Given the description of an element on the screen output the (x, y) to click on. 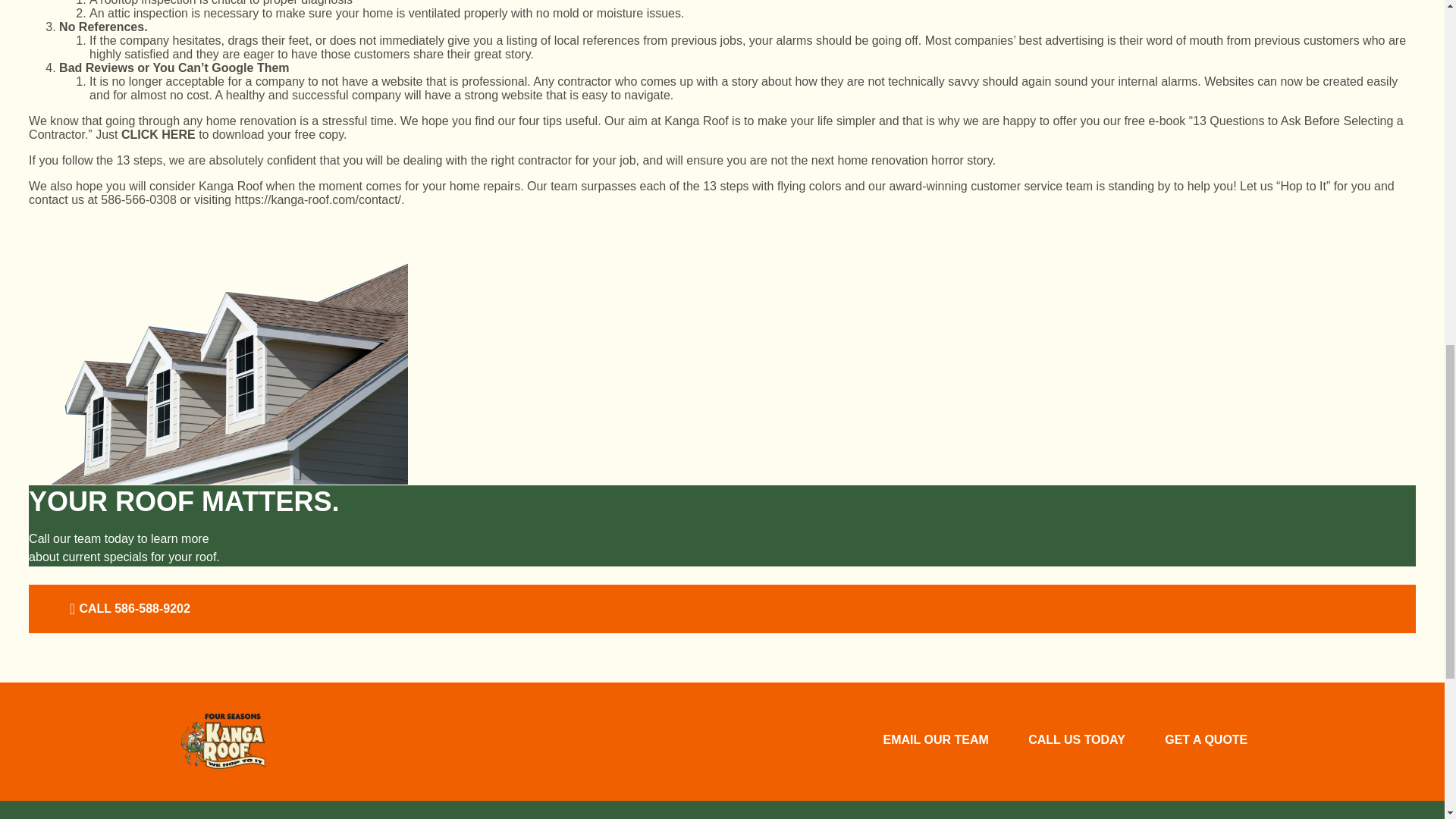
CALL US TODAY (1076, 741)
CALL 586-588-9202 (127, 608)
GET A QUOTE (1205, 741)
EMAIL OUR TEAM (935, 741)
